Given the description of an element on the screen output the (x, y) to click on. 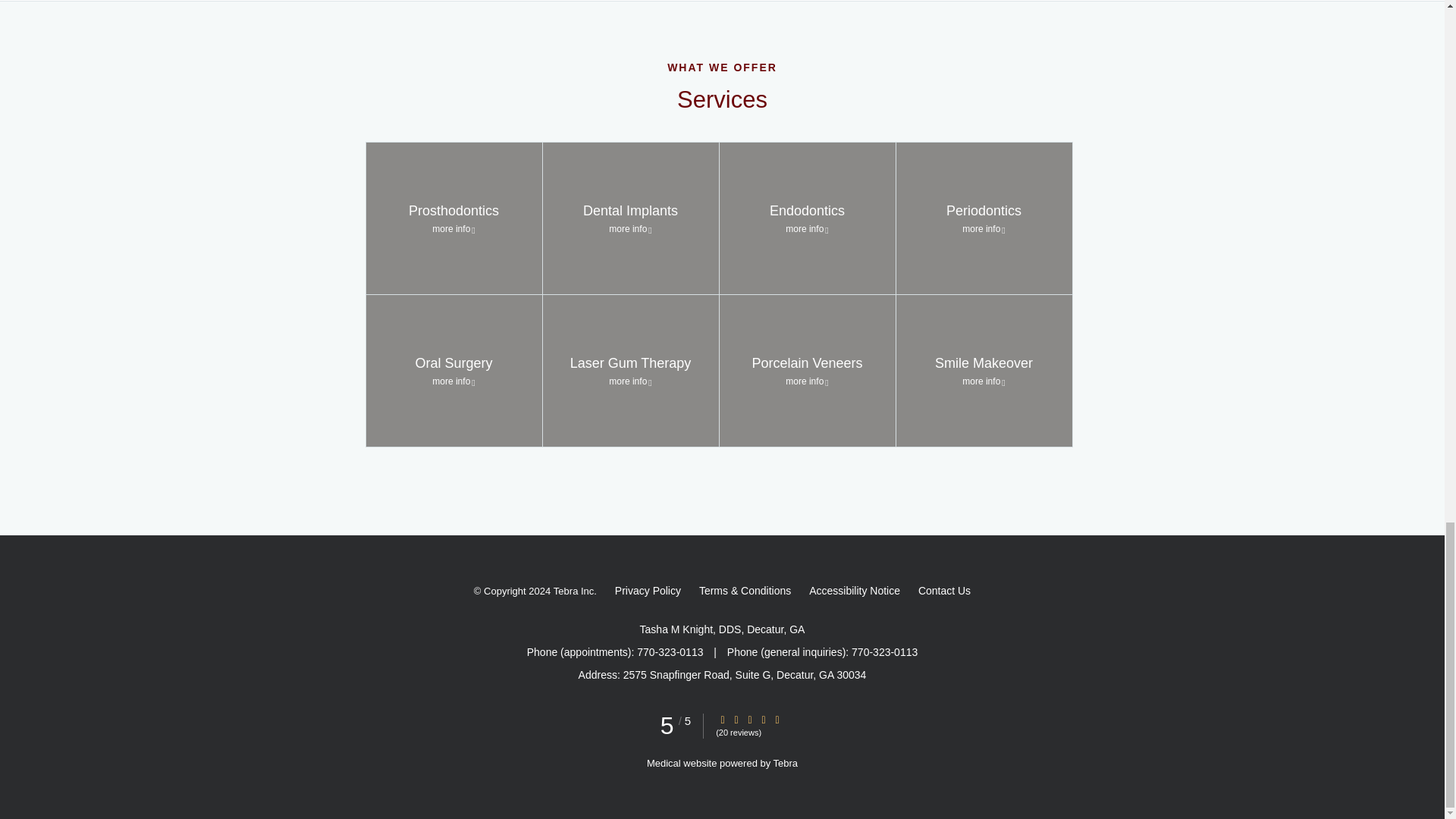
Star Rating (722, 719)
Star Rating (735, 719)
Star Rating (777, 719)
Star Rating (763, 719)
Star Rating (749, 719)
